Given the description of an element on the screen output the (x, y) to click on. 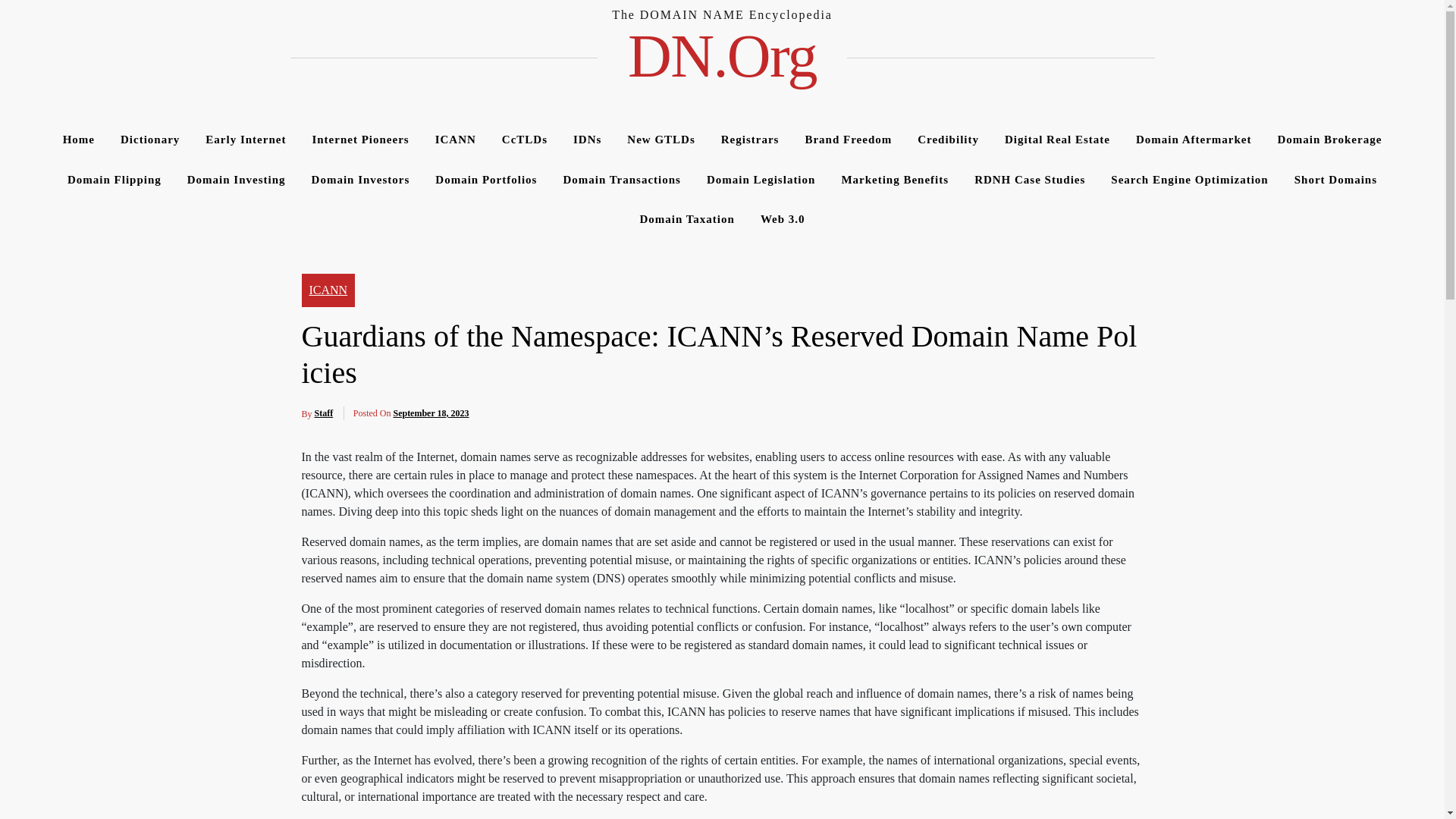
Domain Legislation (761, 178)
Domain Taxation (686, 219)
Domain Brokerage (1329, 139)
Short Domains (1335, 178)
ICANN (455, 139)
Domain Portfolios (485, 178)
DN.Org (721, 55)
IDNs (587, 139)
Credibility (947, 139)
Domain Transactions (622, 178)
RDNH Case Studies (1029, 178)
Home (78, 139)
New GTLDs (660, 139)
Search Engine Optimization (1189, 178)
Dictionary (149, 139)
